Given the description of an element on the screen output the (x, y) to click on. 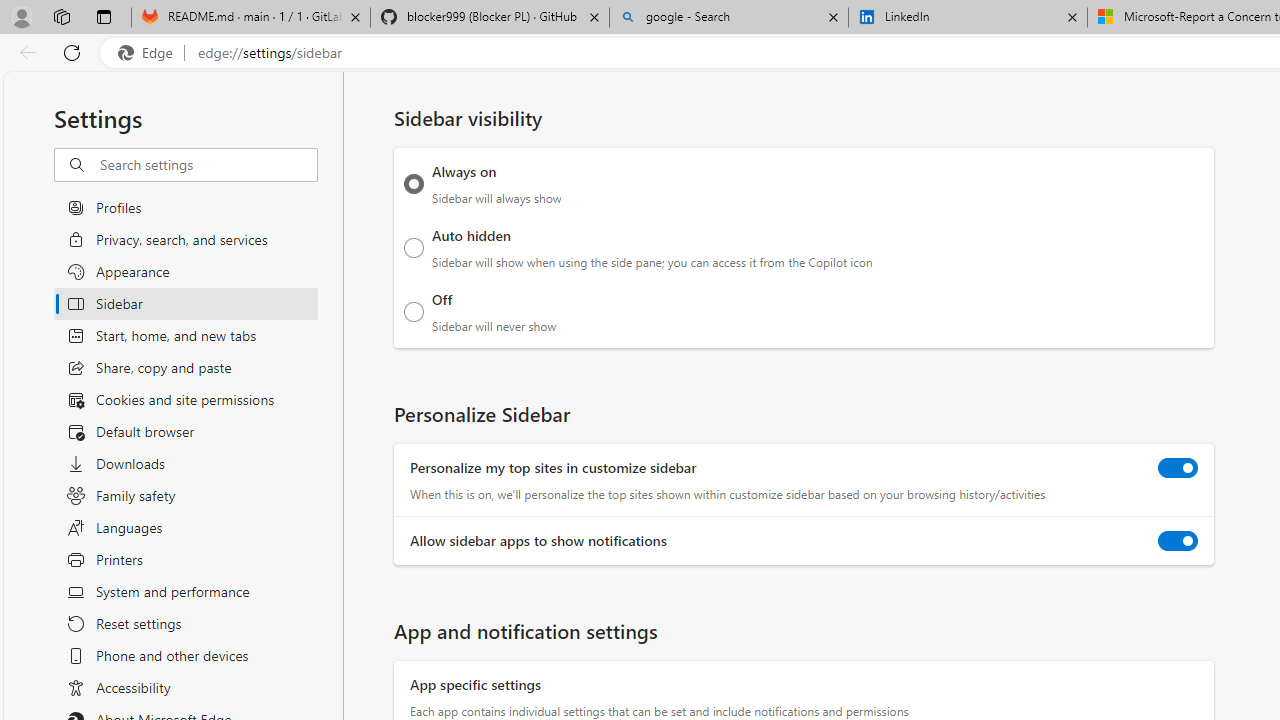
Off Sidebar will never show (413, 311)
Allow sidebar apps to show notifications (1178, 540)
Always on Sidebar will always show (413, 183)
Personalize my top sites in customize sidebar (1178, 467)
Edge (150, 53)
LinkedIn (967, 17)
